Given the description of an element on the screen output the (x, y) to click on. 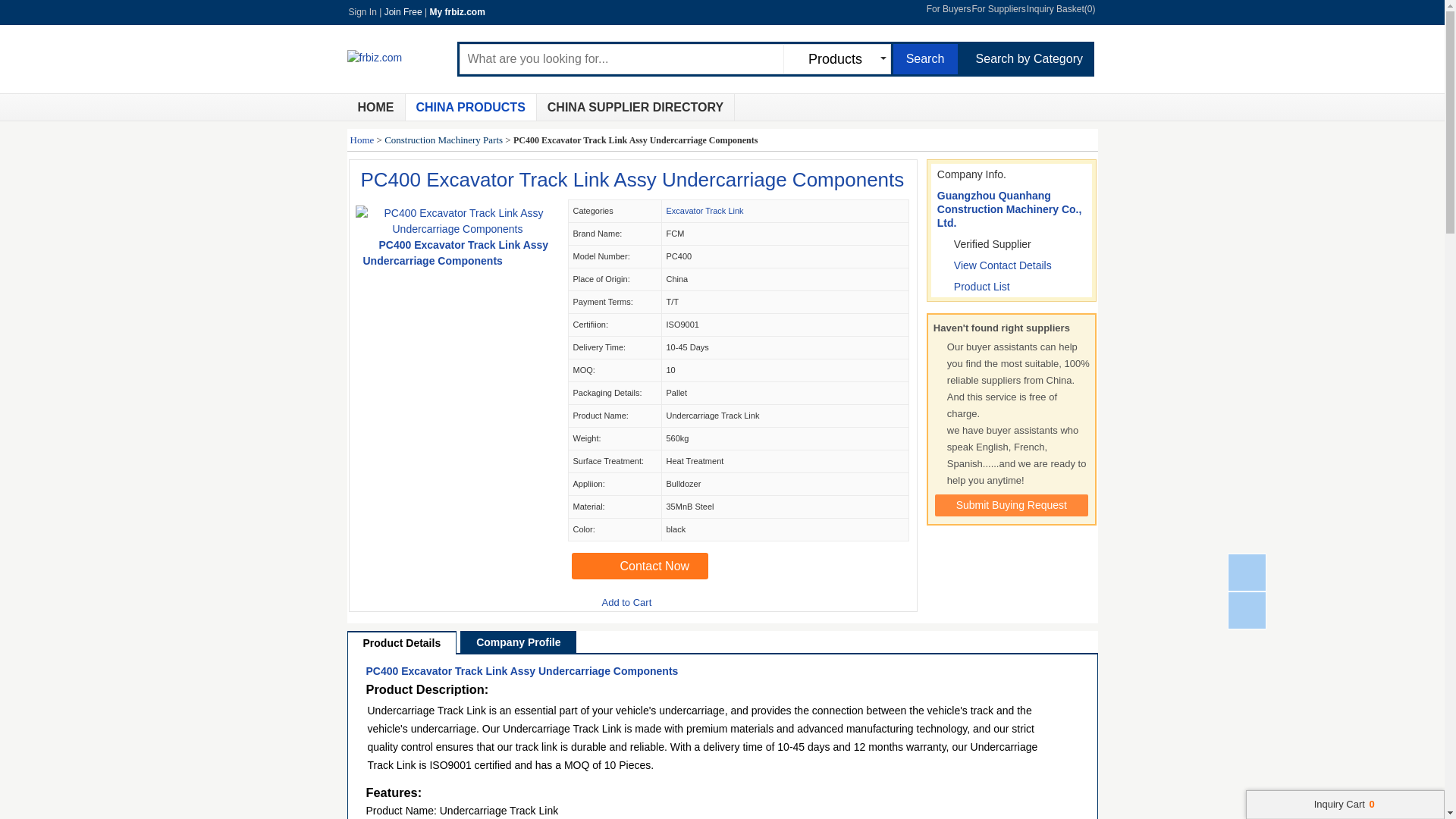
My frbiz.com (456, 11)
Guangzhou Quanhang Construction Machinery Co., Ltd. (1009, 209)
Contact Now (639, 565)
Add to Cart (620, 604)
Construction Machinery Parts (443, 139)
Submit buy request to China factory (1010, 505)
Home (375, 107)
Product List (981, 286)
Join Free (403, 11)
PC400 Excavator Track Link Assy Undercarriage Components (521, 671)
